Given the description of an element on the screen output the (x, y) to click on. 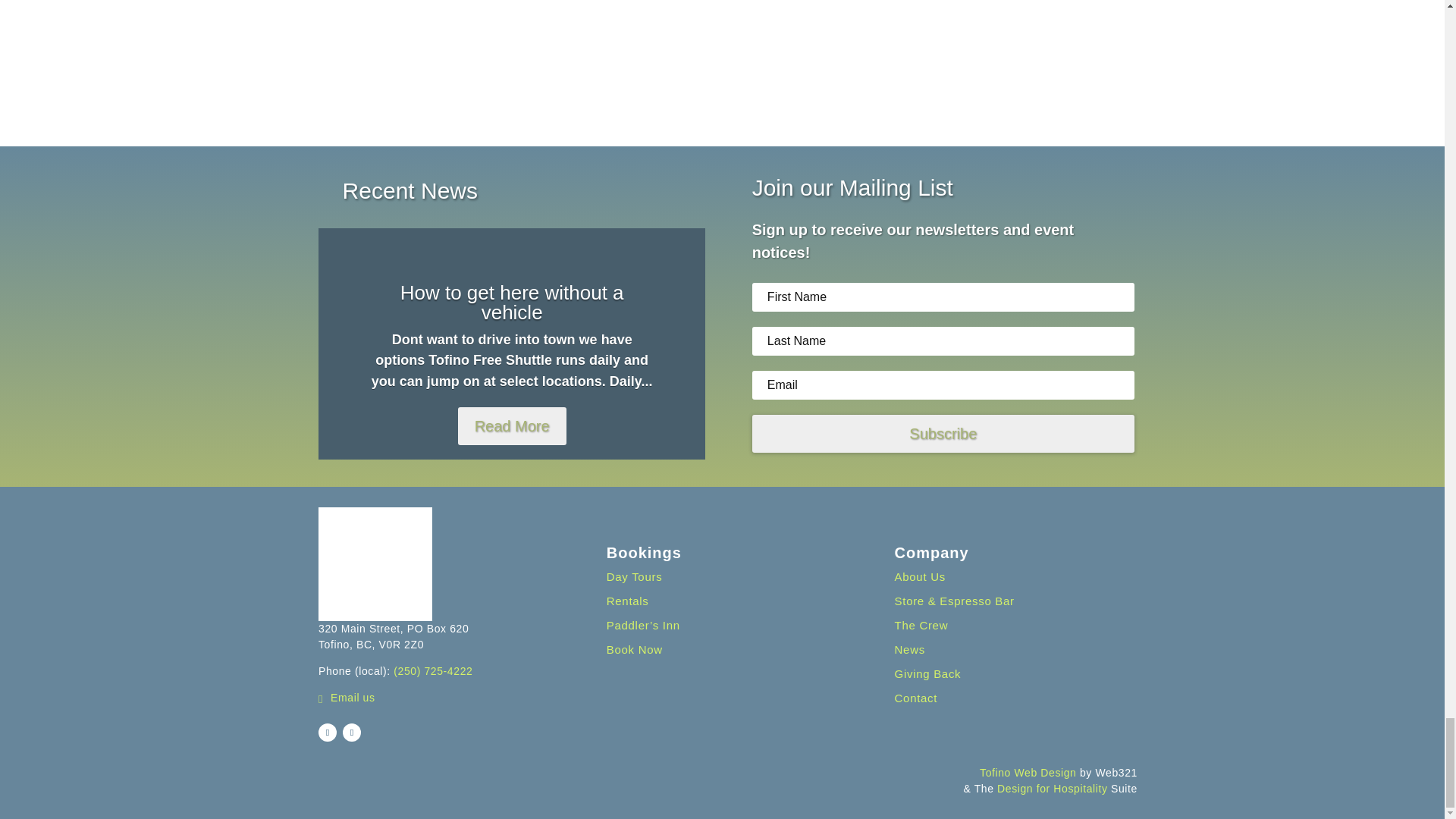
tofino-sea-kayaking-logo-150 (375, 563)
Web321 designs for Tofino BC businesses (1027, 772)
Web Design For Tourism (1051, 788)
Follow on Instagram (351, 732)
Follow on Facebook (327, 732)
